Given the description of an element on the screen output the (x, y) to click on. 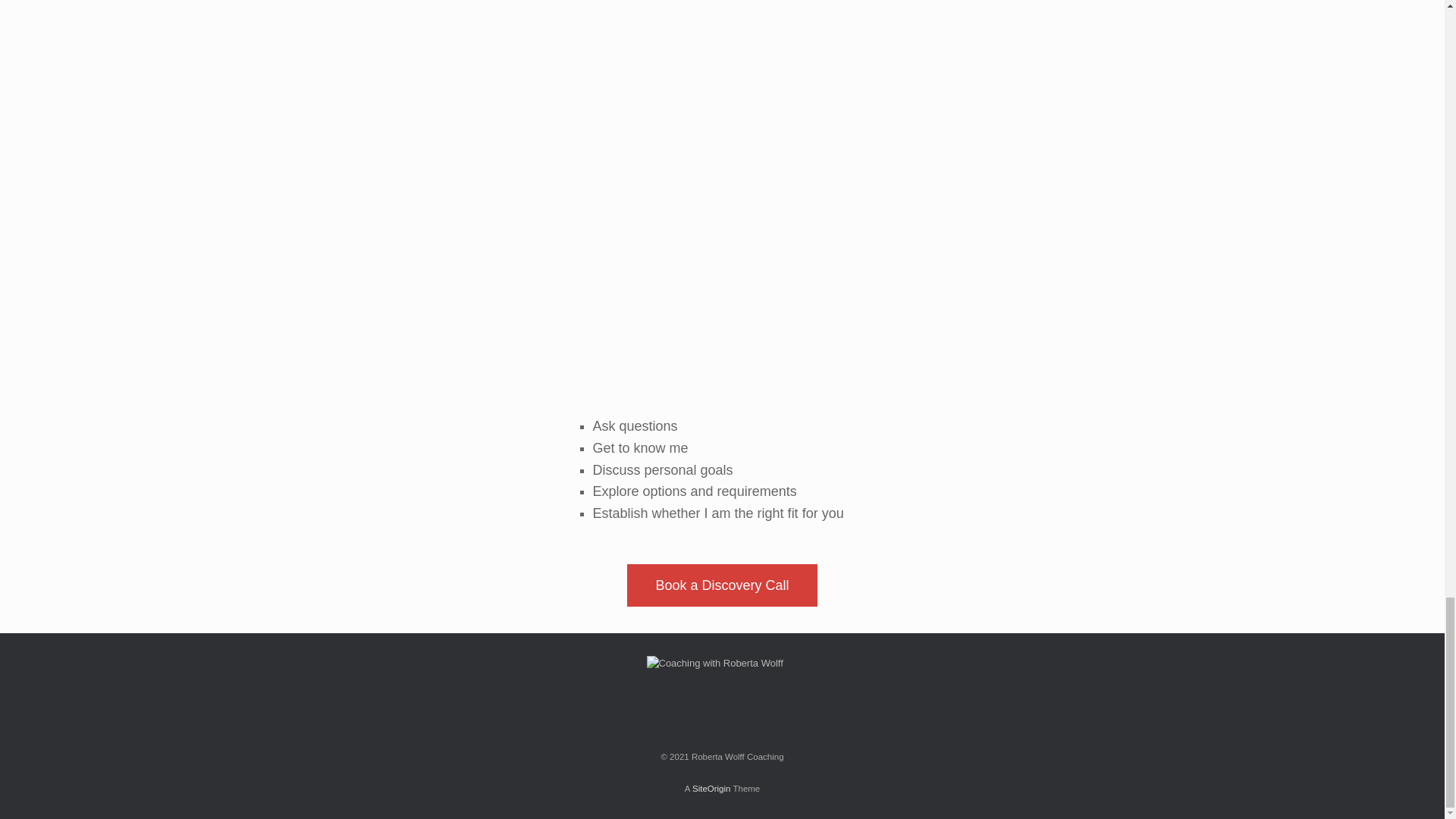
Book a Discovery Call (721, 585)
Coaching with Roberta Wolff (721, 694)
SiteOrigin (711, 788)
